Given the description of an element on the screen output the (x, y) to click on. 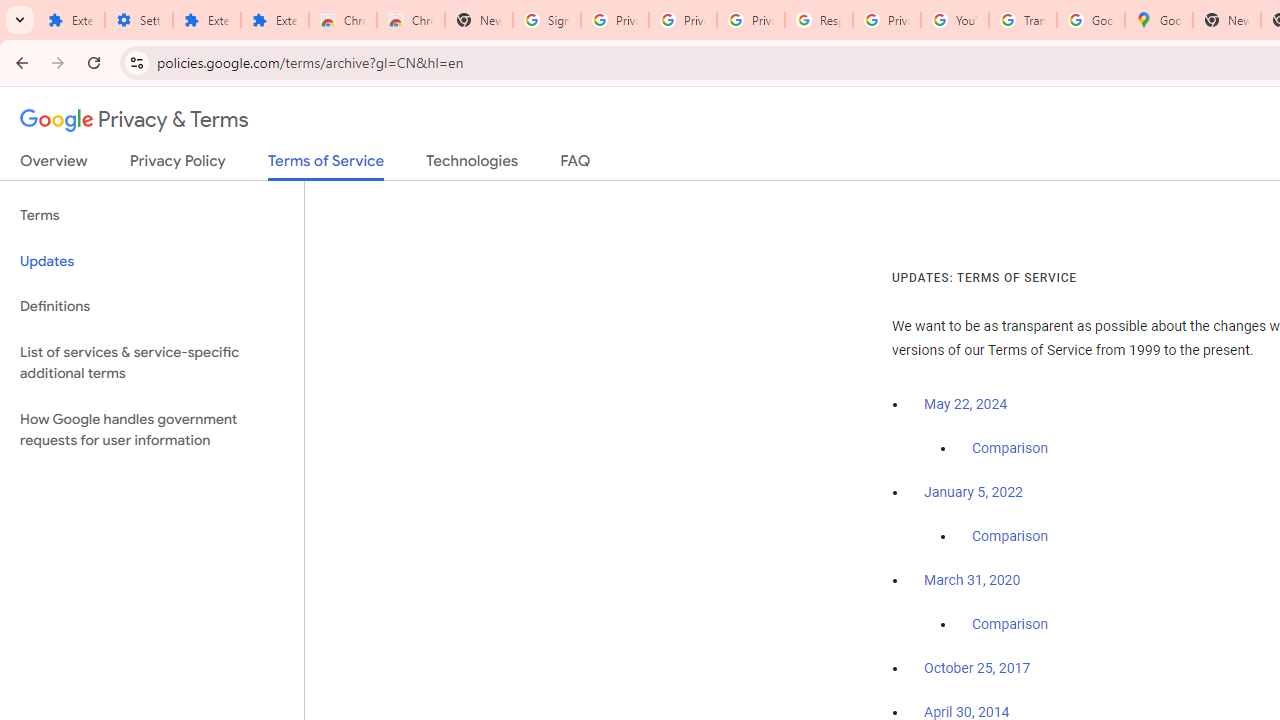
How Google handles government requests for user information (152, 429)
New Tab (479, 20)
Extensions (274, 20)
Chrome Web Store (342, 20)
October 25, 2017 (977, 669)
Sign in - Google Accounts (547, 20)
Comparison (1009, 625)
Definitions (152, 306)
